Given the description of an element on the screen output the (x, y) to click on. 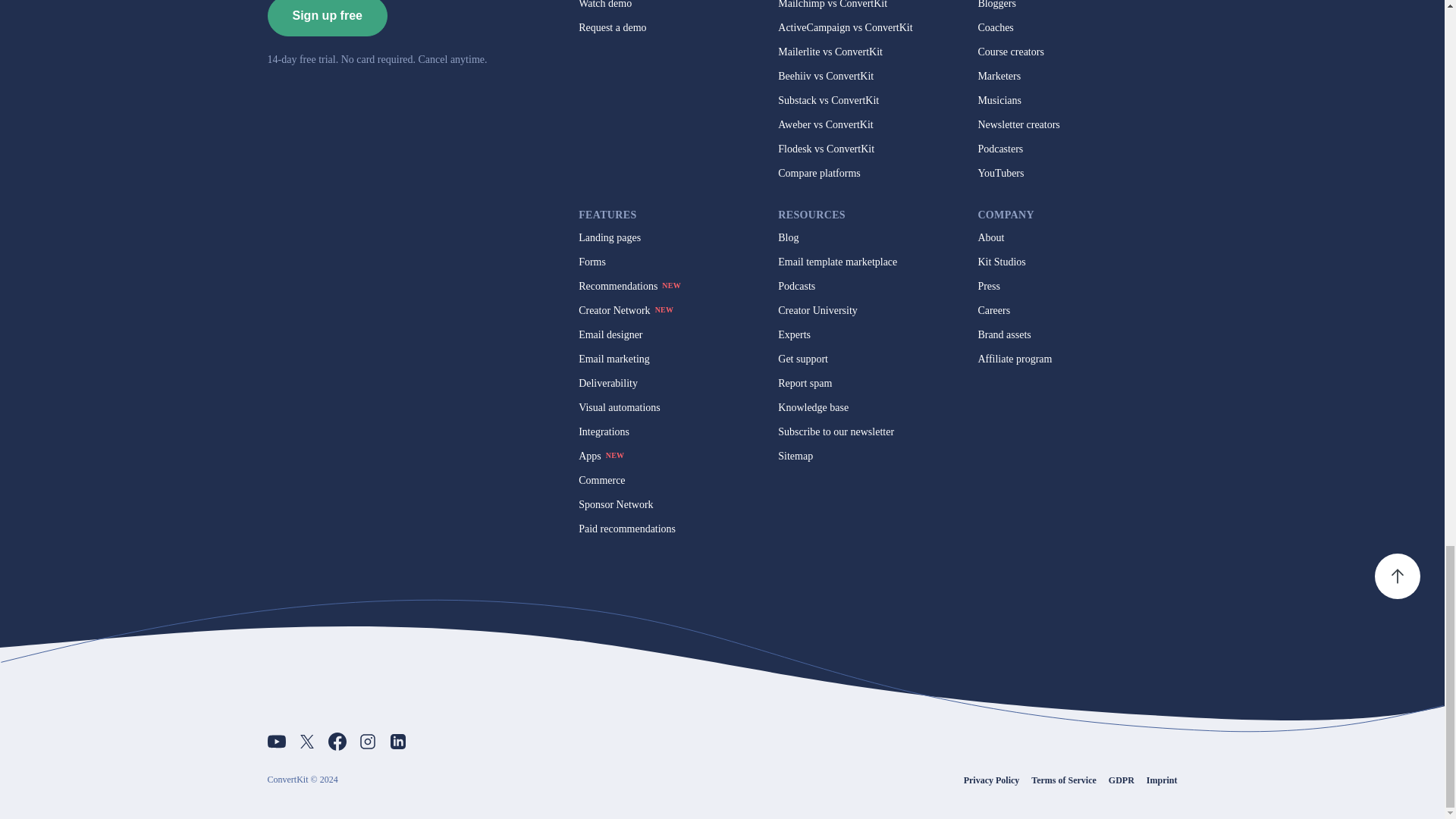
Mailchimp vs ConvertKit (831, 4)
Podcasters (999, 149)
Newsletter creators (1017, 124)
ActiveCampaign vs ConvertKit (844, 28)
Bloggers (996, 4)
Mailerlite vs ConvertKit (829, 51)
Coaches (994, 28)
Request a demo (612, 28)
YouTubers (999, 173)
Musicians (999, 101)
